Given the description of an element on the screen output the (x, y) to click on. 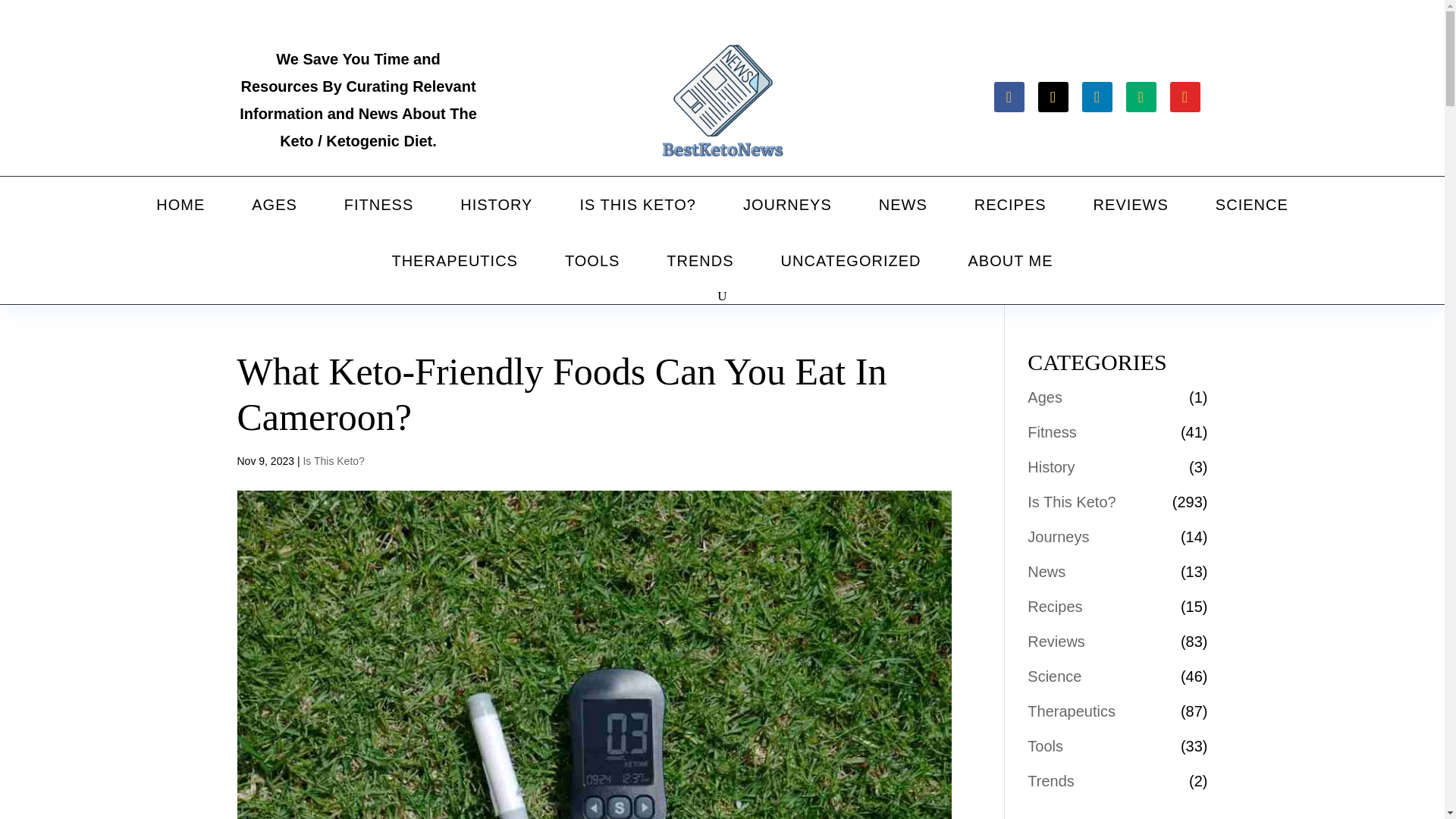
NEWS (902, 204)
SCIENCE (1251, 204)
TOOLS (592, 260)
ABOUT ME (1009, 260)
RECIPES (1010, 204)
AGES (274, 204)
Follow on Facebook (1007, 96)
Follow on X (1051, 96)
FITNESS (378, 204)
TRENDS (699, 260)
